Given the description of an element on the screen output the (x, y) to click on. 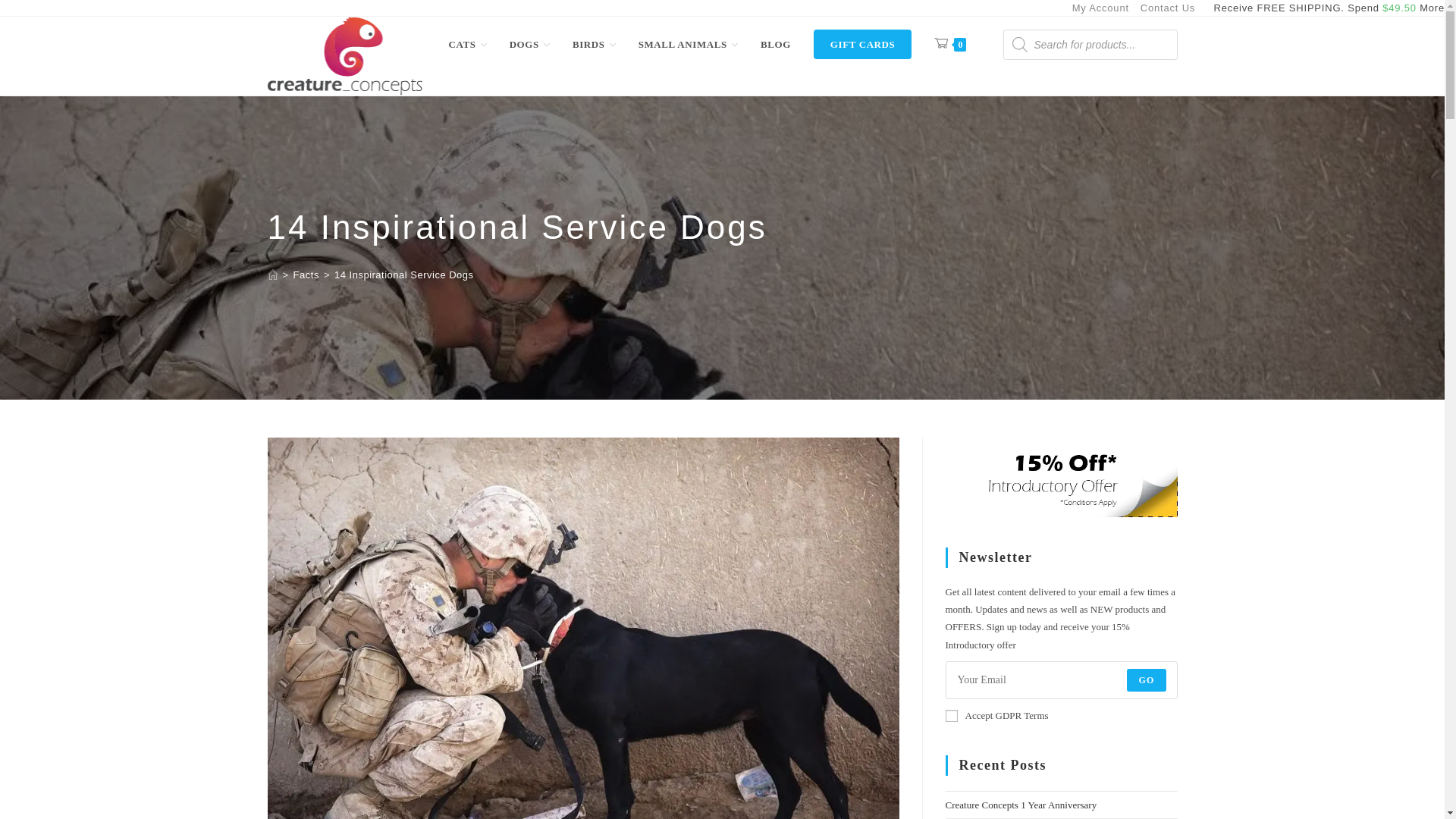
BLOG (775, 44)
CATS (466, 44)
DOGS (528, 44)
GIFT CARDS (862, 44)
0 (949, 44)
BIRDS (593, 44)
My Account (1100, 7)
Contact Us (1167, 7)
SMALL ANIMALS (688, 44)
